Given the description of an element on the screen output the (x, y) to click on. 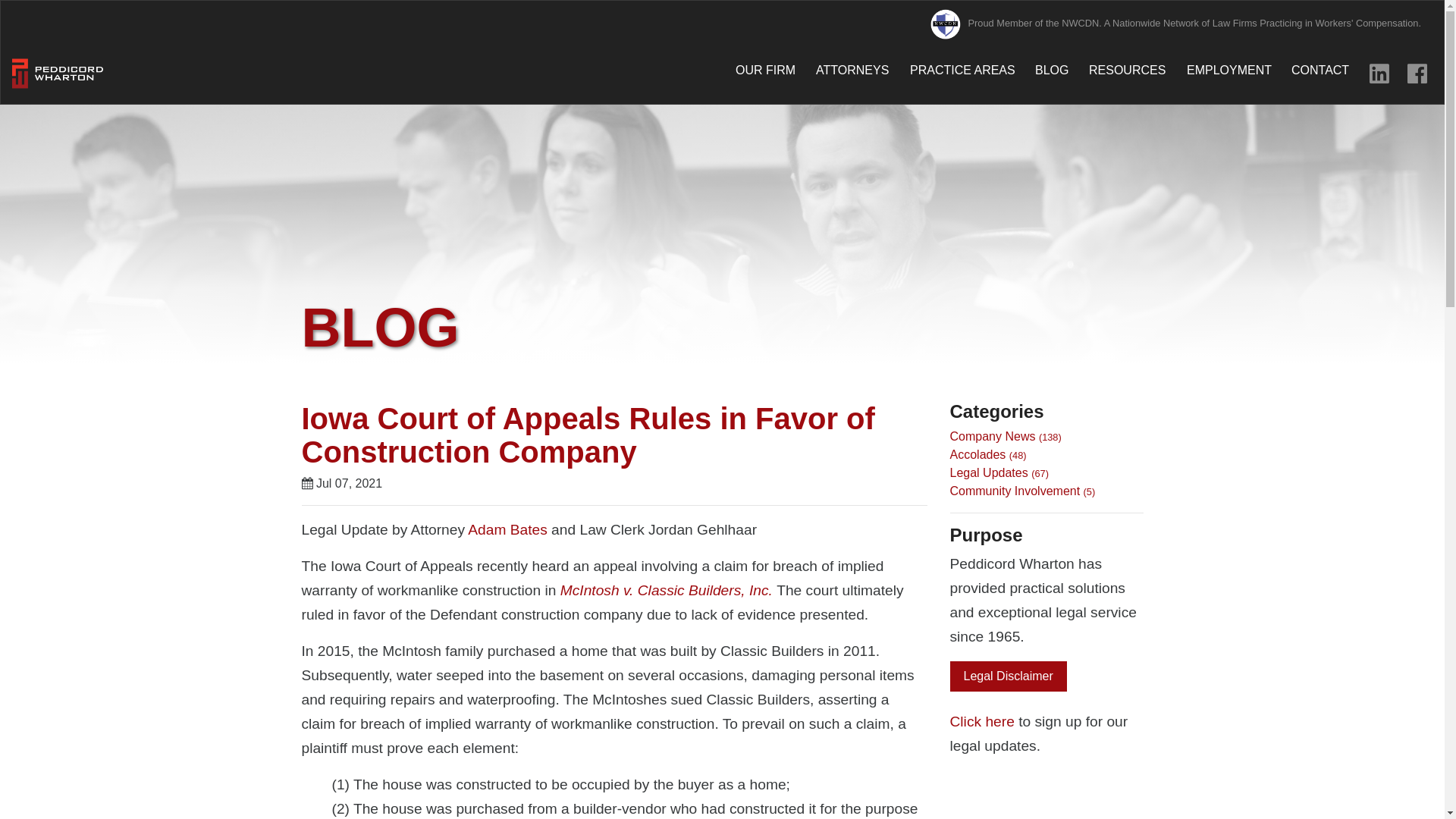
OUR FIRM (764, 70)
Legal Disclaimer (1007, 675)
PRACTICE AREAS (962, 70)
CONTACT (1320, 70)
Click here (983, 721)
ATTORNEYS (851, 70)
McIntosh v. Classic Builders, Inc. (666, 590)
BLOG (1051, 70)
RESOURCES (1127, 70)
